Given the description of an element on the screen output the (x, y) to click on. 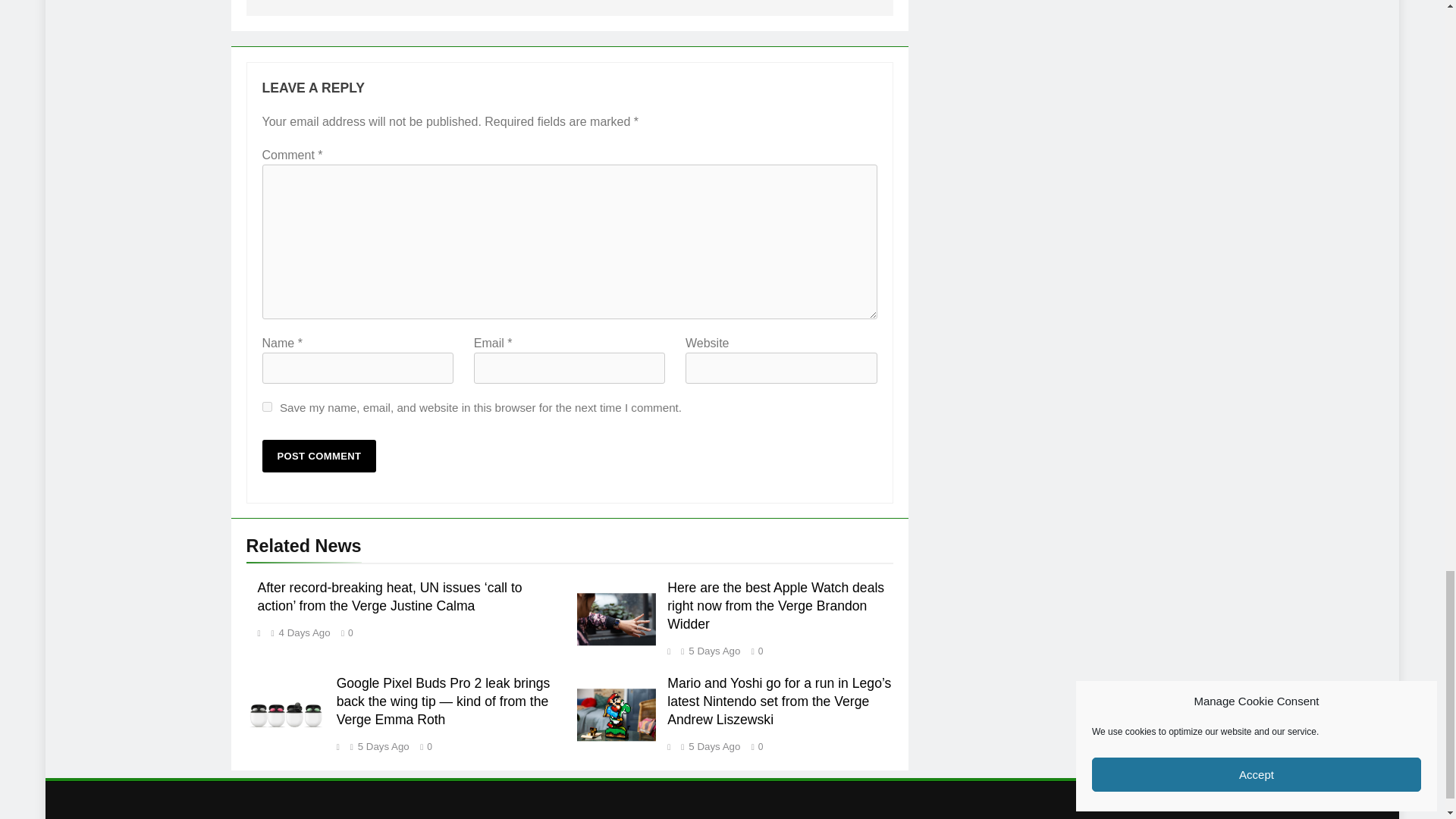
Post Comment (319, 455)
yes (267, 406)
